Given the description of an element on the screen output the (x, y) to click on. 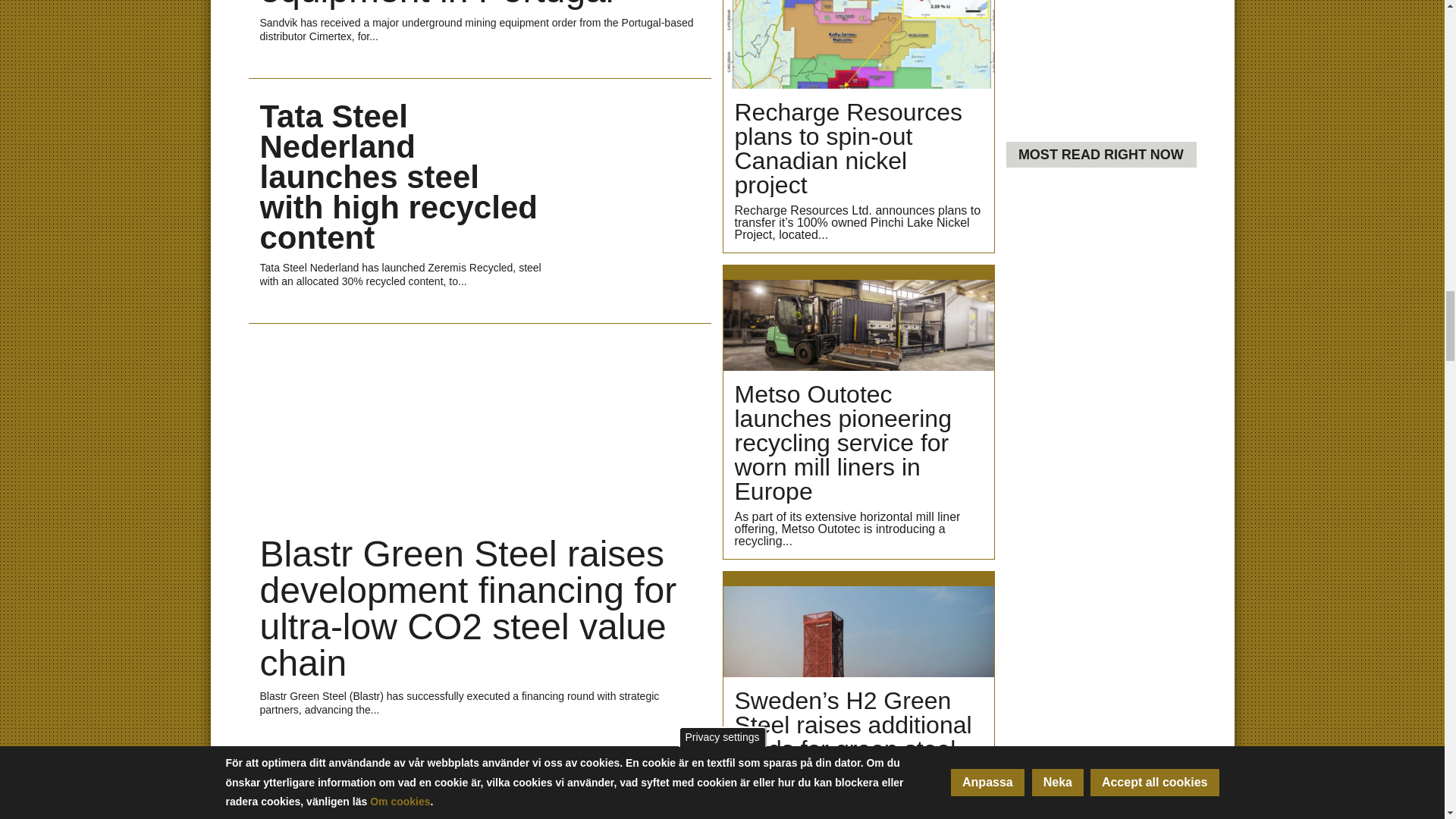
3rd party ad content (1100, 65)
